Given the description of an element on the screen output the (x, y) to click on. 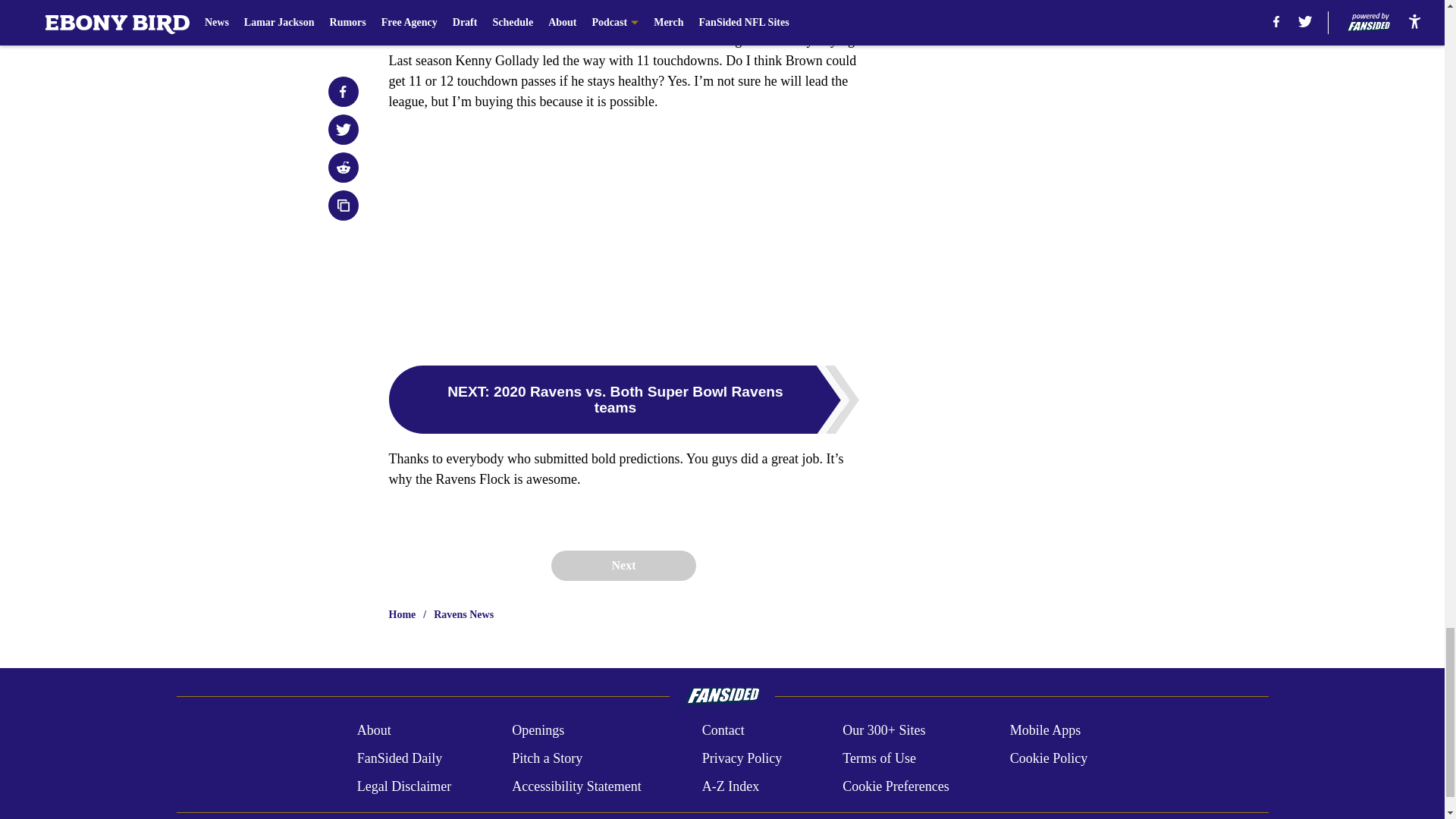
Next (622, 565)
Ravens News (463, 614)
Mobile Apps (1045, 730)
About (373, 730)
Contact (722, 730)
Openings (538, 730)
FanSided Daily (399, 758)
Home (401, 614)
NEXT: 2020 Ravens vs. Both Super Bowl Ravens teams (623, 399)
